Given the description of an element on the screen output the (x, y) to click on. 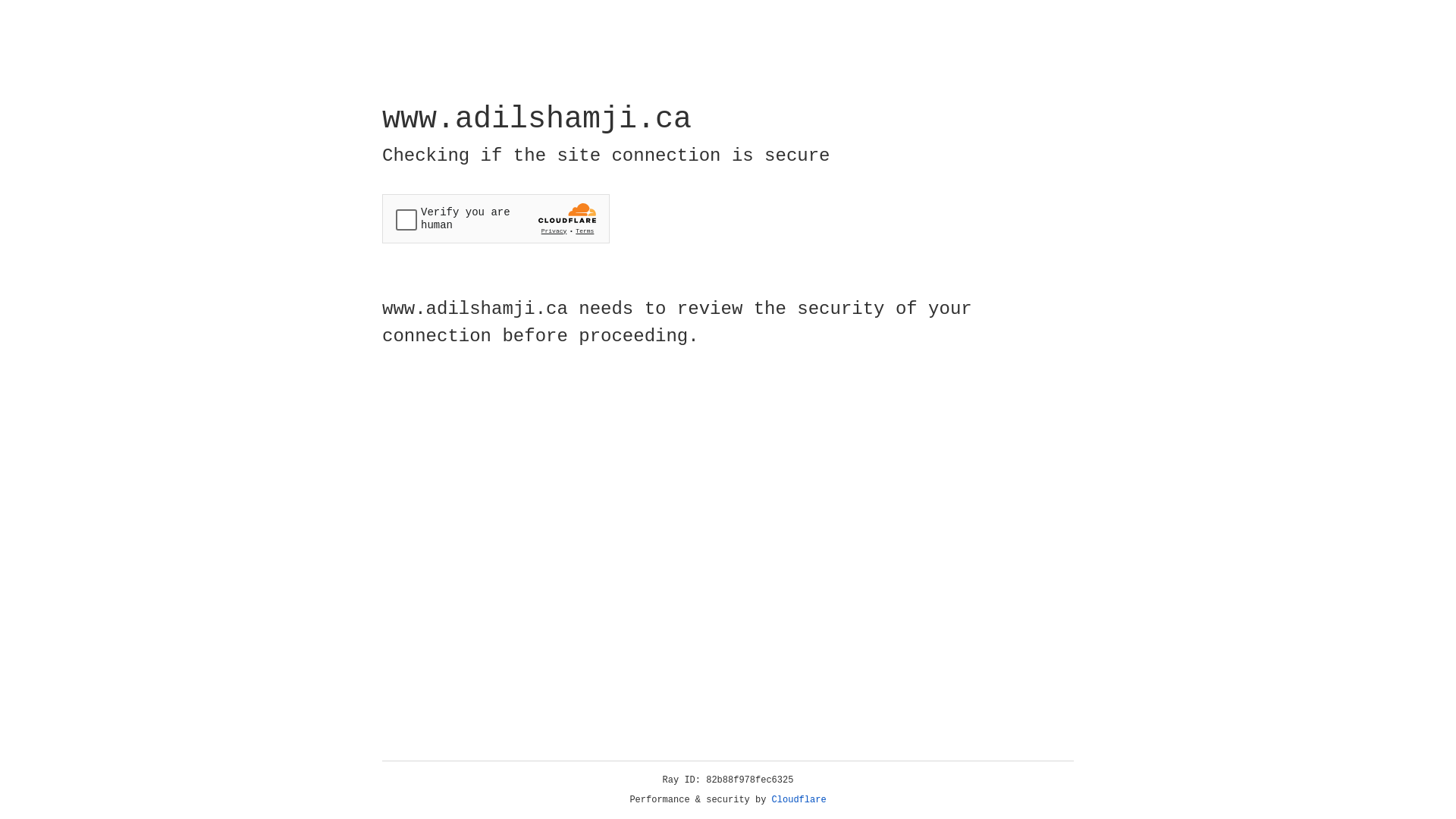
Widget containing a Cloudflare security challenge Element type: hover (495, 218)
Cloudflare Element type: text (798, 799)
